Given the description of an element on the screen output the (x, y) to click on. 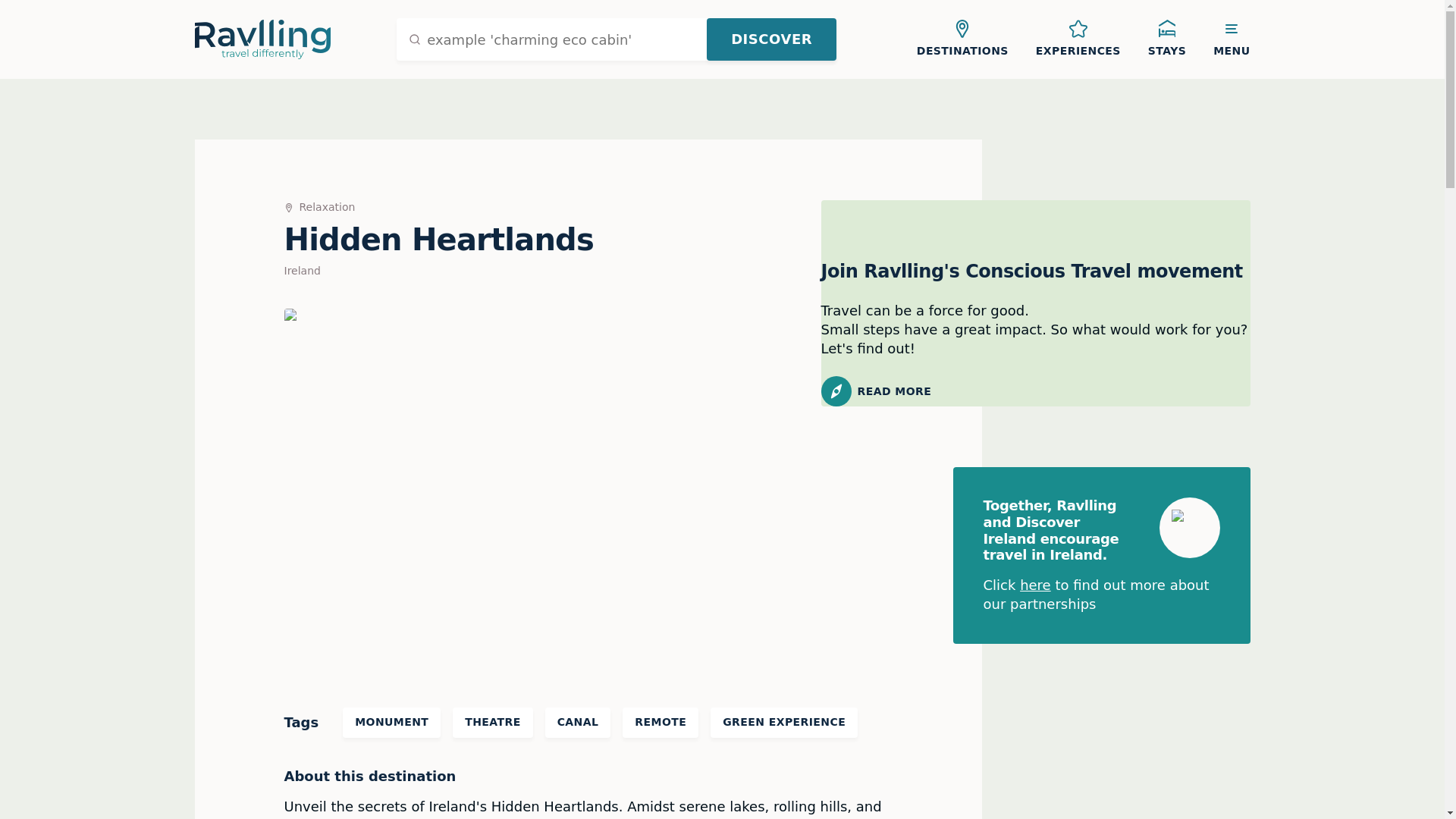
THEATRE (492, 722)
STAYS (1166, 38)
DESTINATIONS (962, 38)
CANAL (577, 722)
EXPERIENCES (1078, 38)
here (1035, 584)
DISCOVER (770, 39)
MONUMENT (391, 722)
GREEN EXPERIENCE (783, 722)
READ MORE (1035, 390)
MENU (1231, 38)
REMOTE (660, 722)
